Given the description of an element on the screen output the (x, y) to click on. 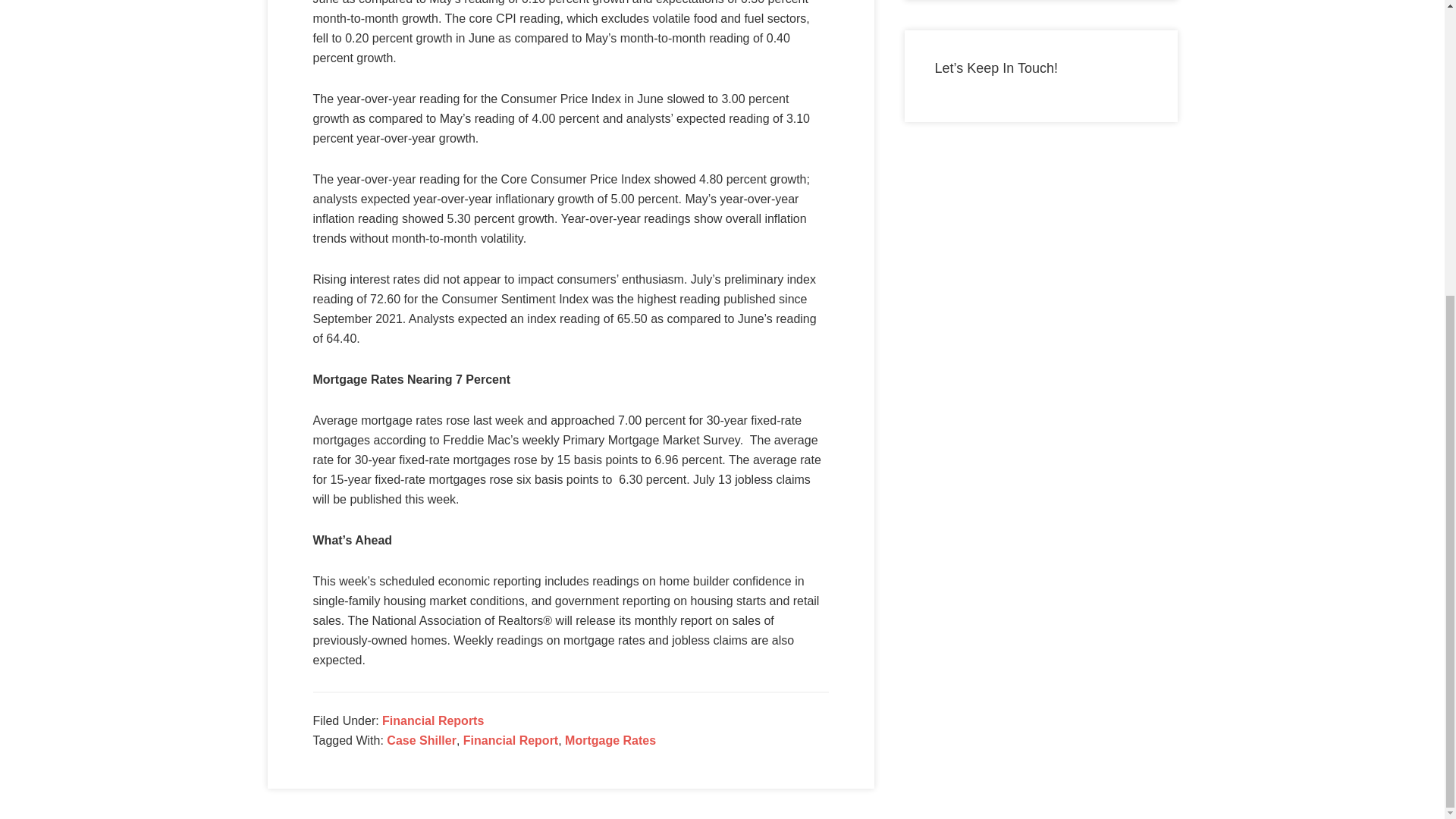
Financial Report (510, 739)
Case Shiller (422, 739)
Financial Reports (432, 720)
Mortgage Rates (610, 739)
